Given the description of an element on the screen output the (x, y) to click on. 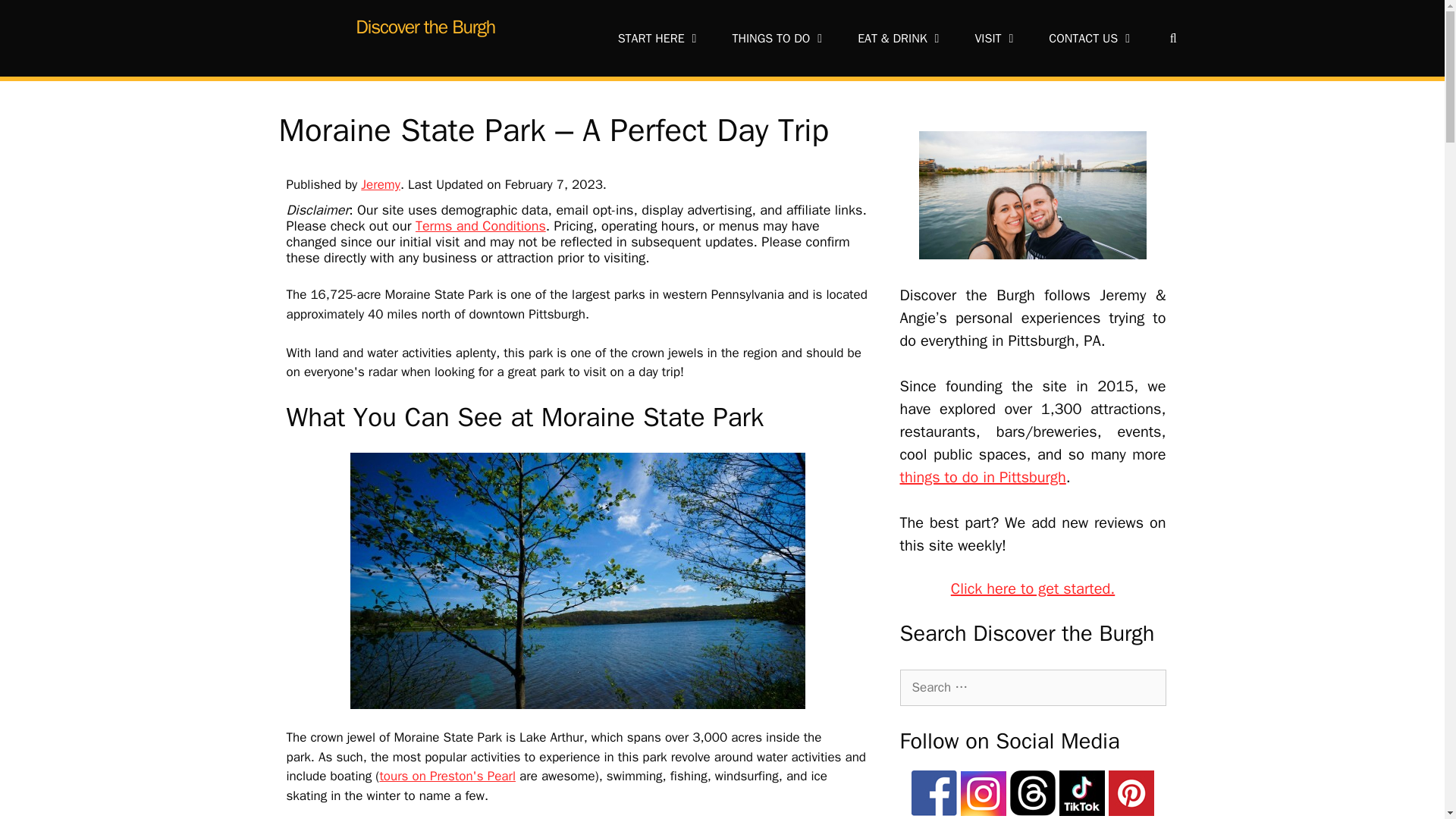
Lake Arthur at Moraine State Park (577, 580)
START HERE (659, 38)
THINGS TO DO (779, 38)
Discover the Burgh (425, 26)
